Given the description of an element on the screen output the (x, y) to click on. 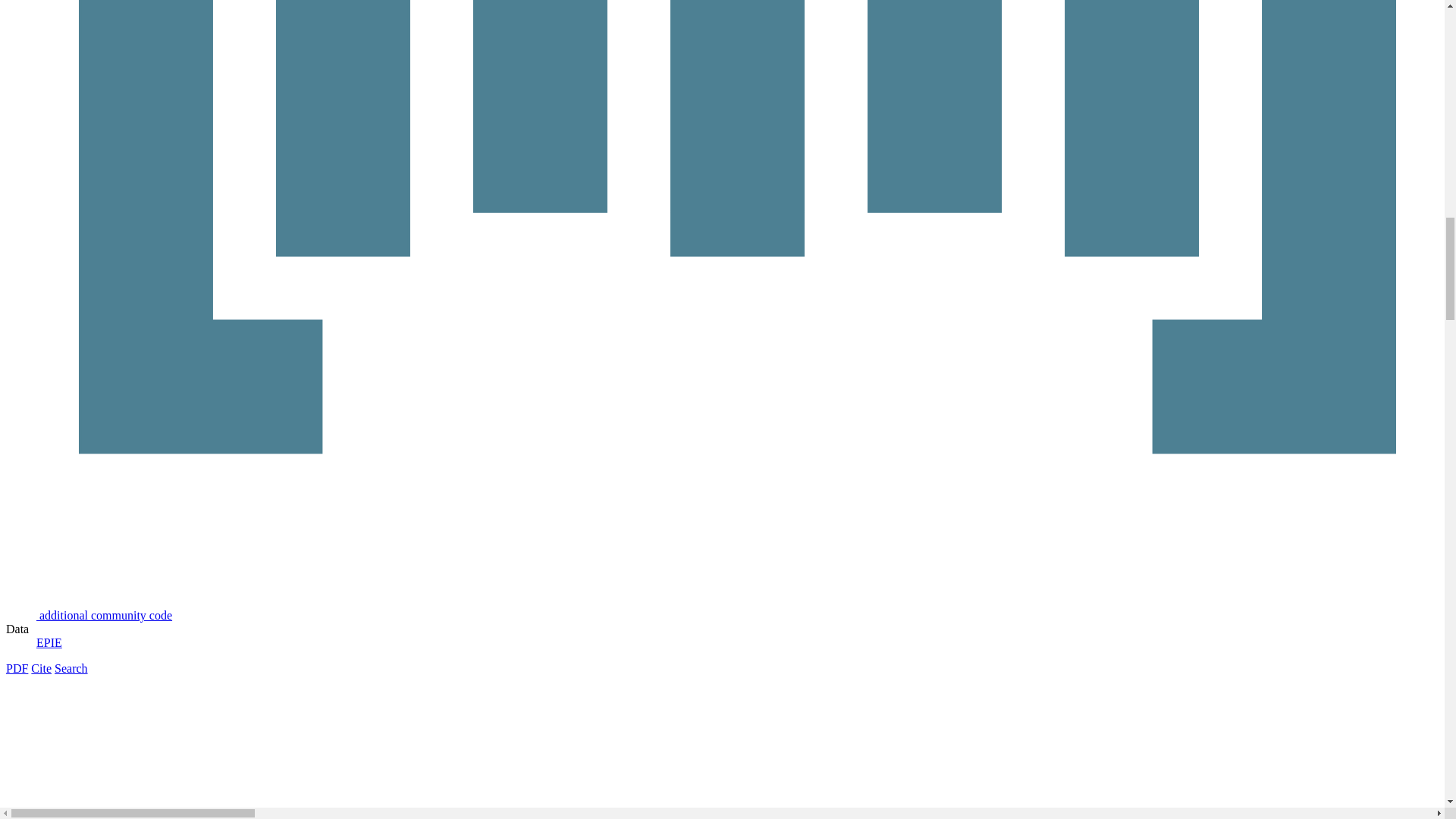
Open dialog for exporting citations (40, 667)
